Given the description of an element on the screen output the (x, y) to click on. 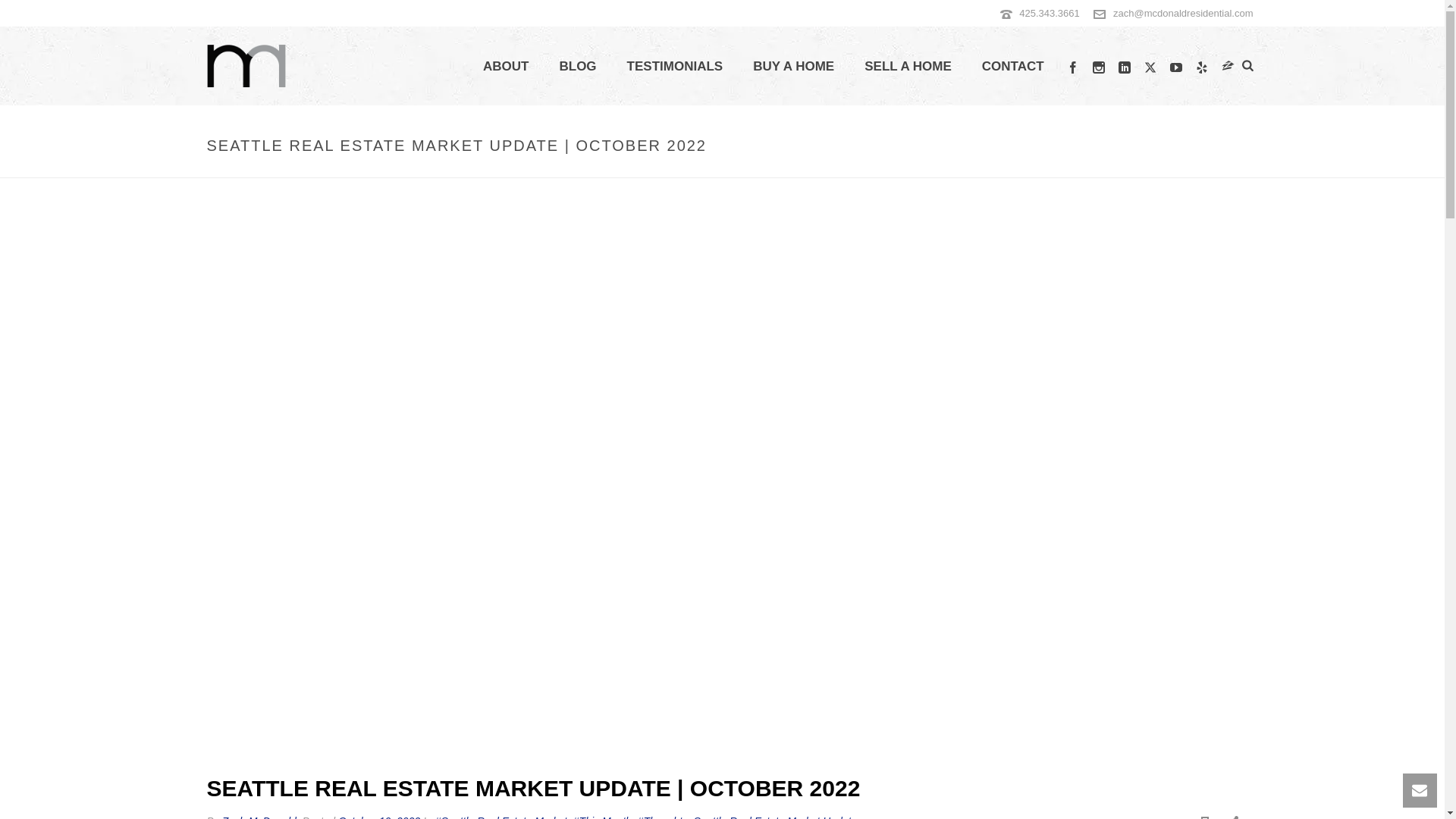
Helping People Like You Buy and Sell Real Estate (245, 65)
CONTACT (1012, 66)
425.343.3661 (1049, 12)
Print (1203, 816)
BLOG (577, 66)
Posts by Zach McDonald (259, 816)
CONTACT (1012, 66)
BLOG (577, 66)
TESTIMONIALS (674, 66)
SELL A HOME (907, 66)
